Given the description of an element on the screen output the (x, y) to click on. 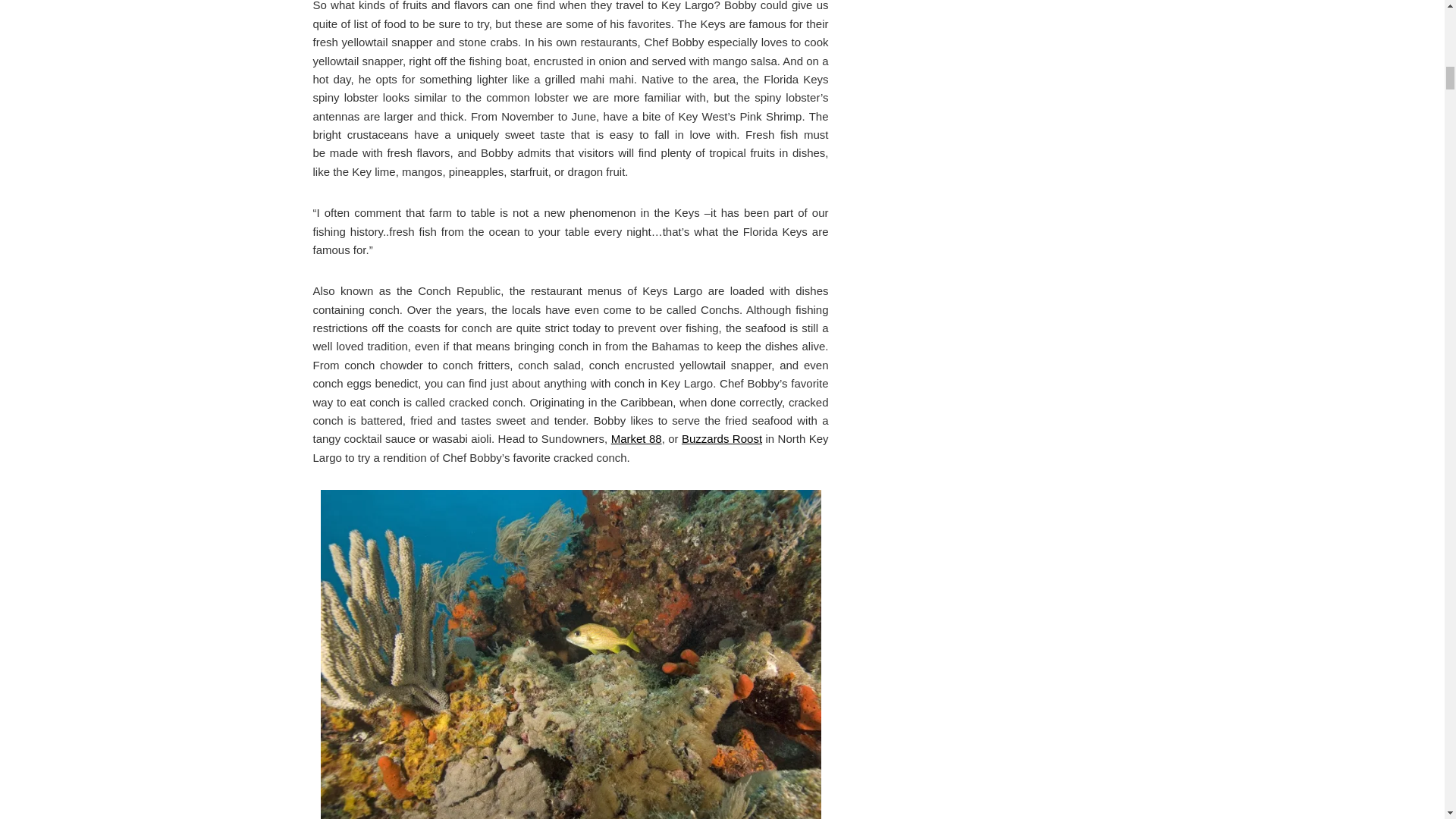
Market 88 (636, 438)
Buzzards Roost (721, 438)
